Given the description of an element on the screen output the (x, y) to click on. 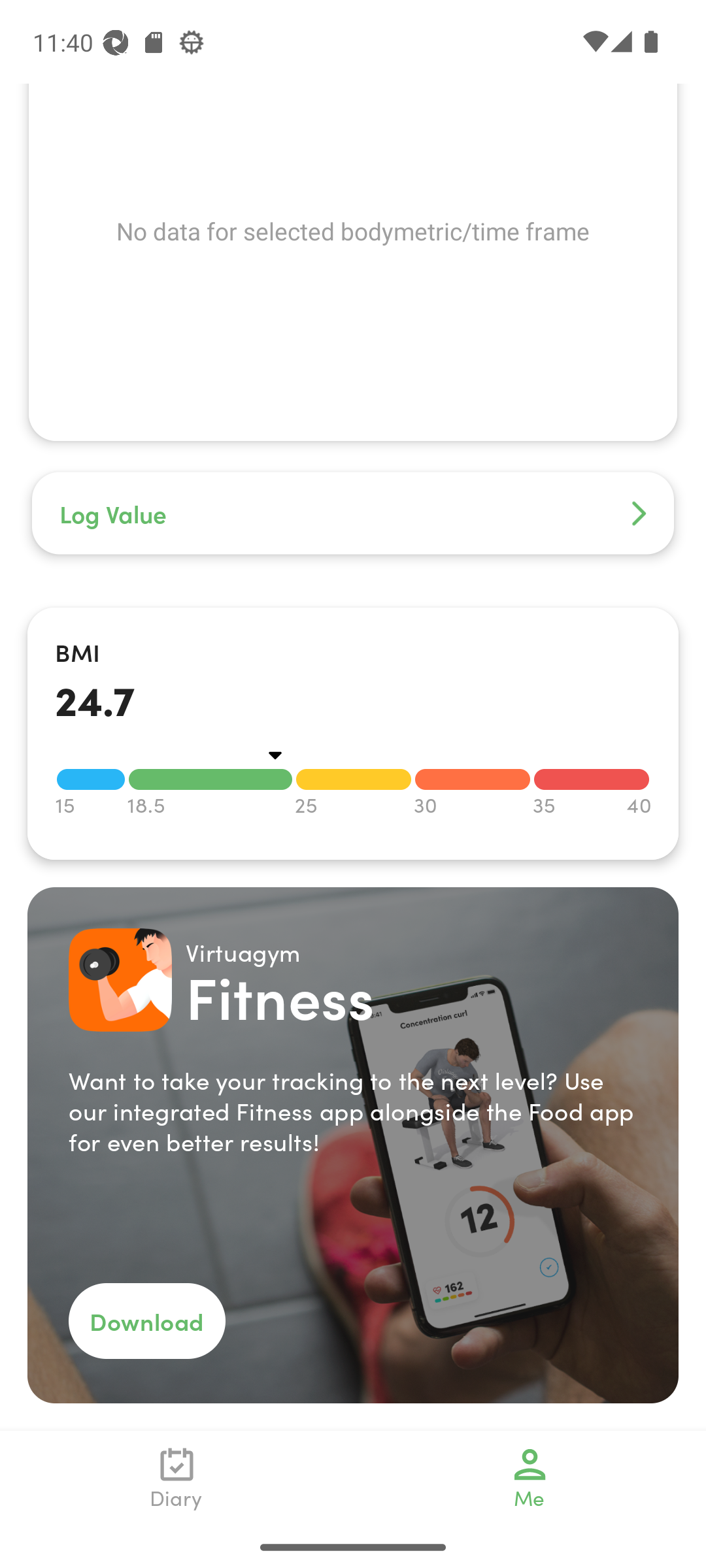
Log Value (353, 345)
Log Value (352, 513)
Download (146, 1320)
Diary navigation_icon (176, 1478)
